Given the description of an element on the screen output the (x, y) to click on. 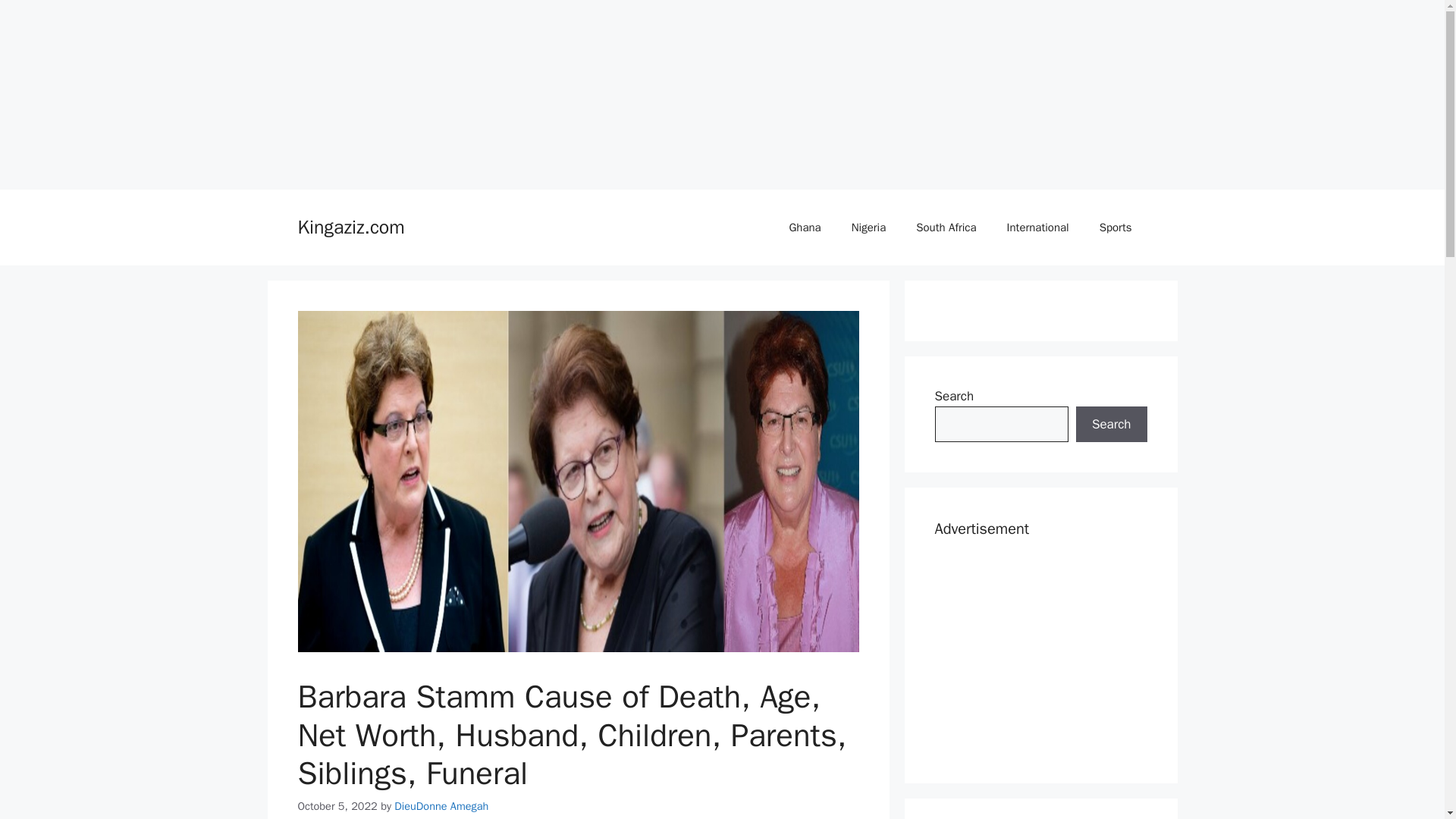
View all posts by DieuDonne Amegah (440, 806)
Nigeria (868, 227)
Search (1111, 424)
DieuDonne Amegah (440, 806)
Kingaziz.com (350, 227)
International (1037, 227)
Ghana (804, 227)
South Africa (946, 227)
Sports (1115, 227)
